Given the description of an element on the screen output the (x, y) to click on. 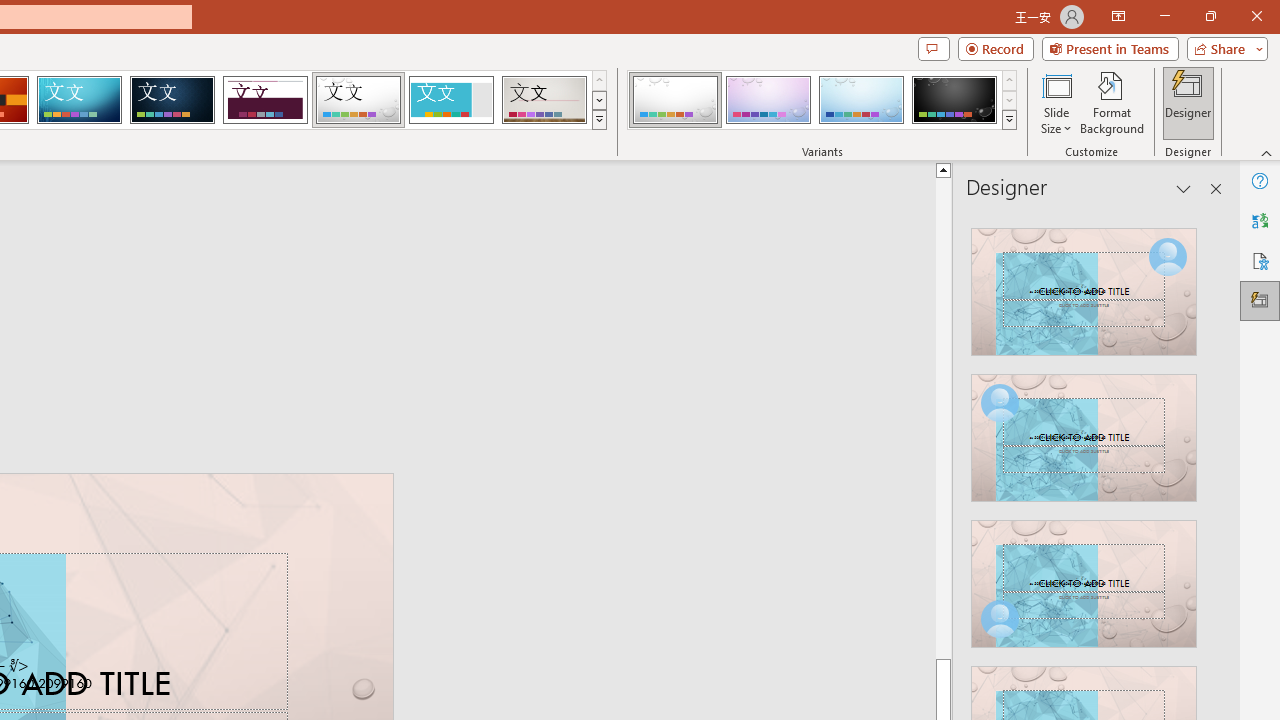
Droplet Variant 1 (674, 100)
Variants (1009, 120)
Gallery (544, 100)
Droplet Variant 3 (861, 100)
Damask (171, 100)
Circuit (79, 100)
